Given the description of an element on the screen output the (x, y) to click on. 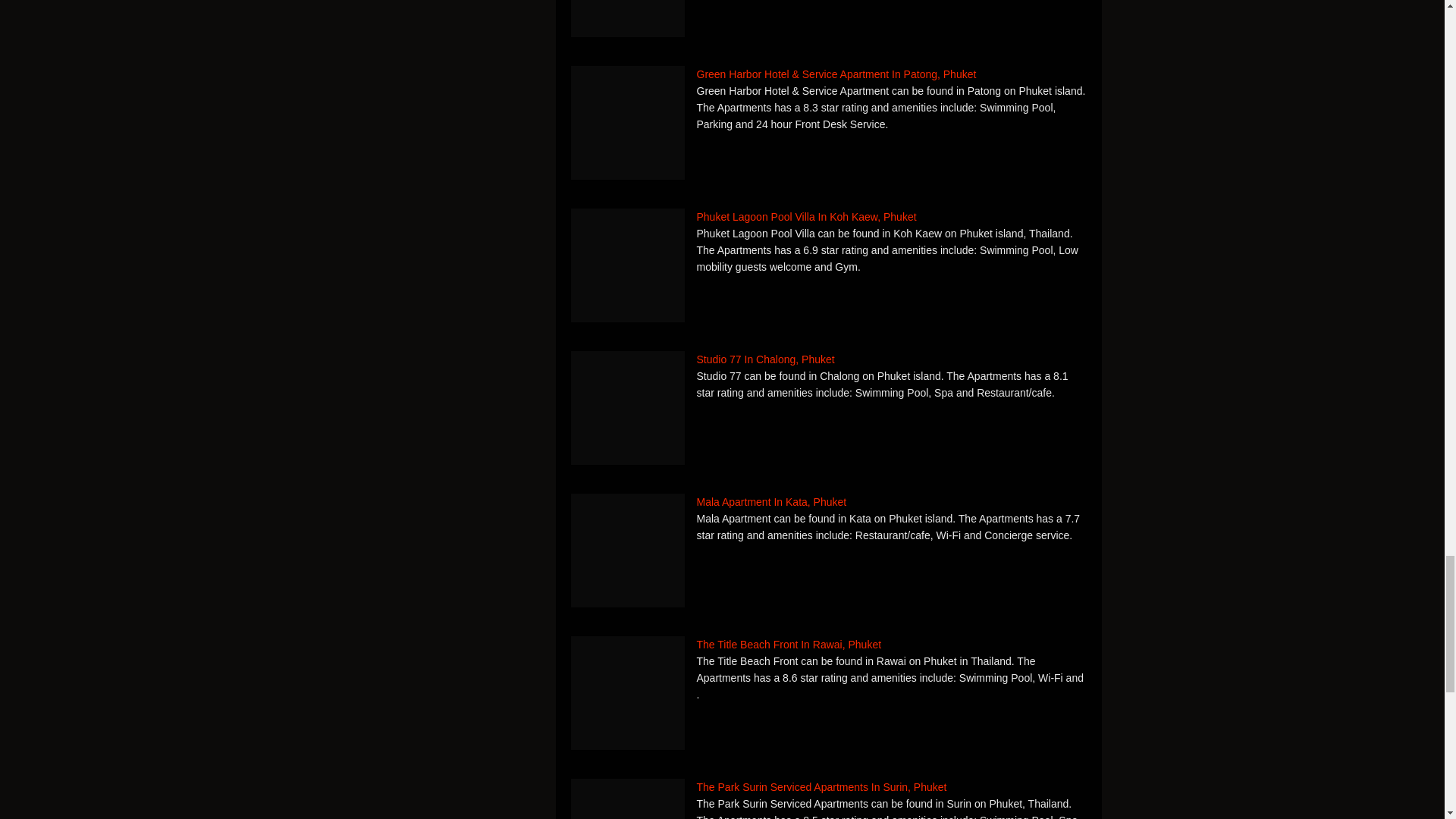
The Title Beach Front in Rawai (627, 693)
Mala Apartment in Kata (627, 550)
The Unity Patong in Patong (627, 18)
Phuket Lagoon Pool Villa in Koh Kaew (627, 265)
Studio 77 in Chalong (627, 408)
